Given the description of an element on the screen output the (x, y) to click on. 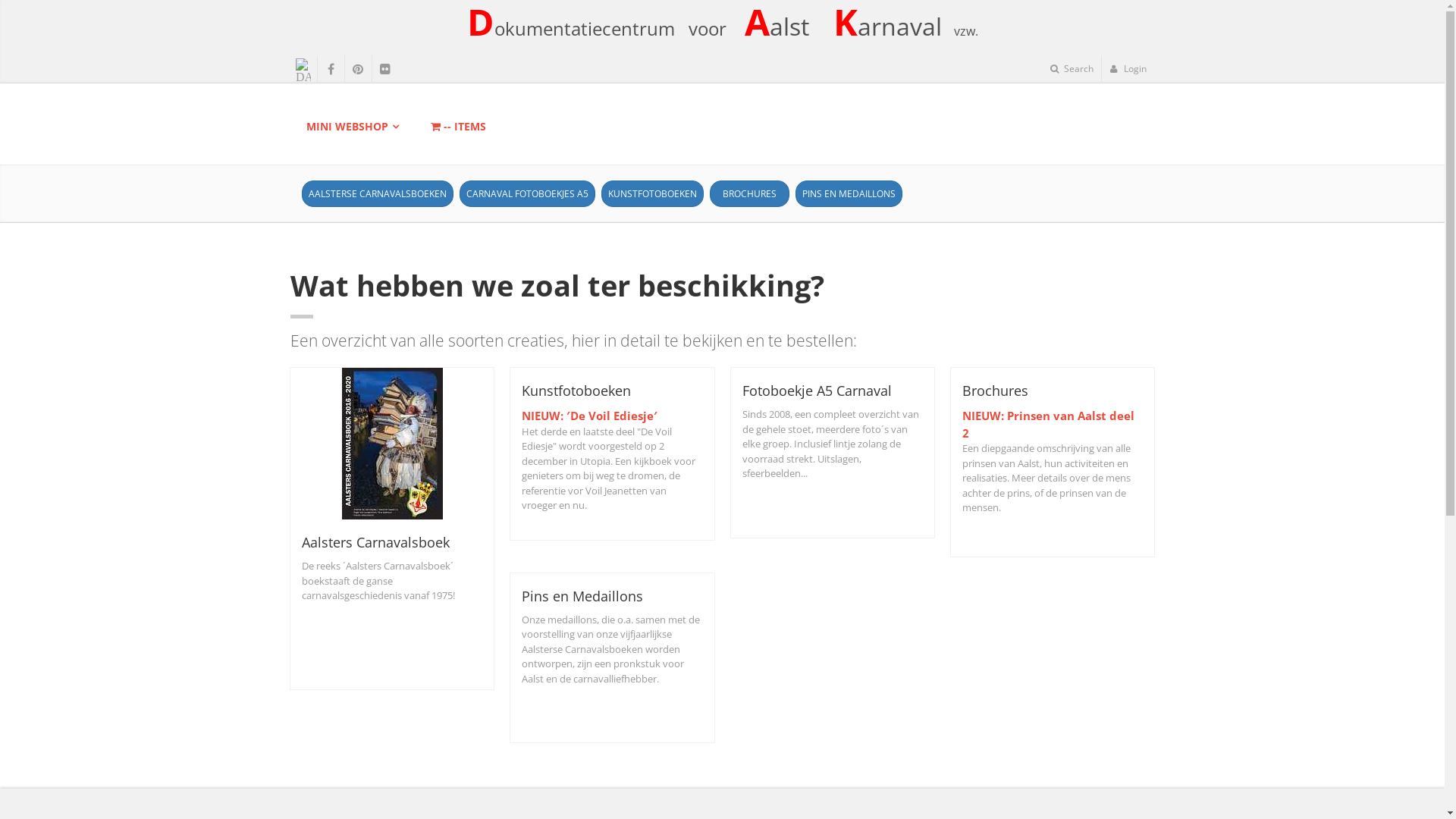
Login Element type: text (1127, 68)
NIEUW: Prinsen van Aalst deel 2 Element type: text (1048, 423)
Brochures Element type: text (995, 390)
Search Element type: text (1071, 68)
KUNSTFOTOBOEKEN Element type: text (651, 193)
PINS EN MEDAILLONS Element type: text (847, 193)
MINI WEBSHOP Element type: text (347, 126)
-- ITEMS Element type: text (458, 126)
CARNAVAL FOTOBOEKJES A5 Element type: text (527, 193)
AALSTERSE CARNAVALSBOEKEN Element type: text (377, 193)
 BROCHURES  Element type: text (749, 193)
Pins en Medaillons Element type: text (582, 595)
Aalsters Carnavalsboek Element type: text (375, 542)
Fotoboekje A5 Carnaval Element type: text (816, 390)
Kunstfotoboeken Element type: text (575, 390)
